Given the description of an element on the screen output the (x, y) to click on. 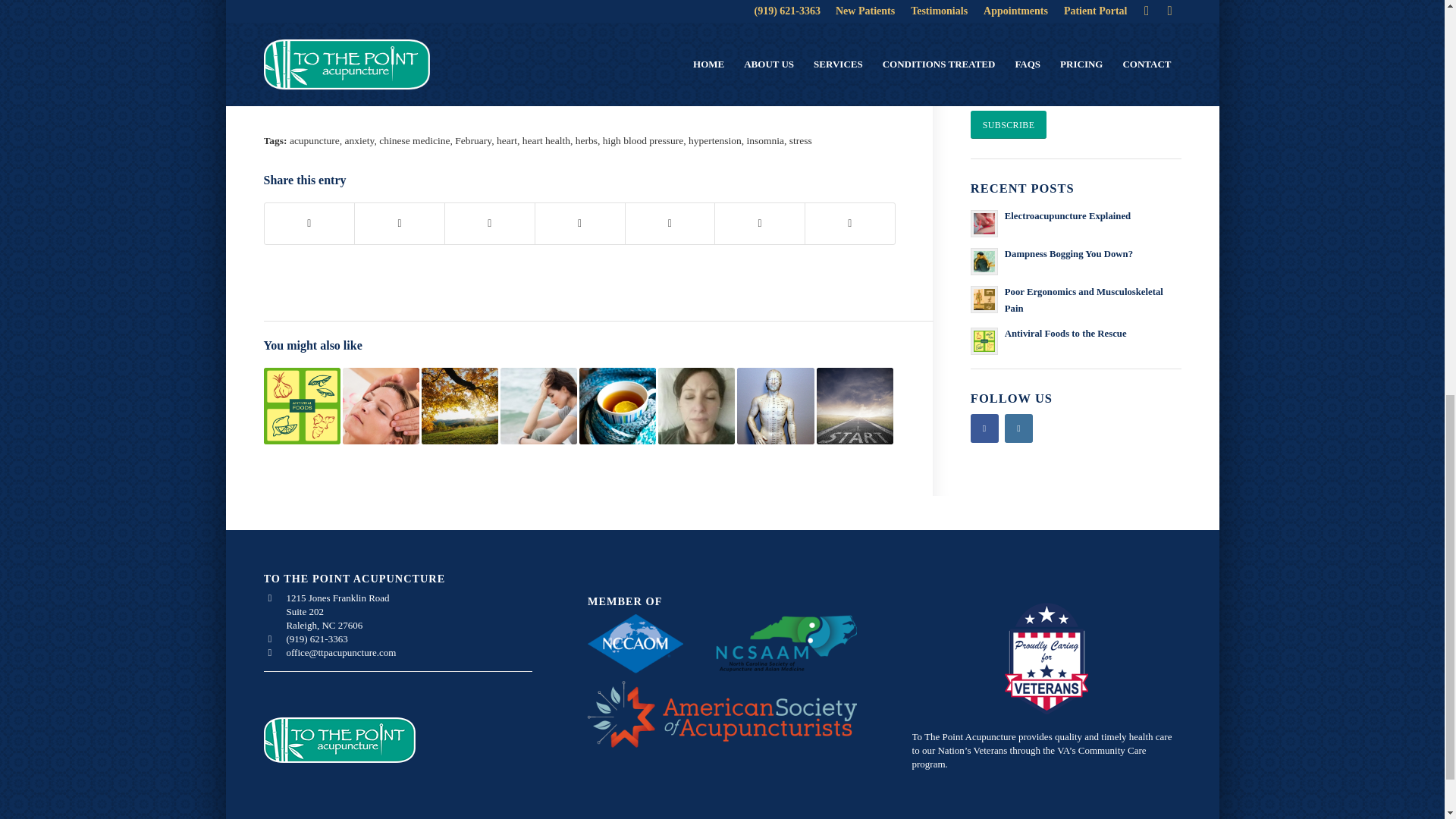
hypertension (714, 140)
heart health (546, 140)
chinese medicine (413, 140)
February (473, 140)
high blood pressure (642, 140)
To The Point Acupuncture, LLC. (498, 55)
heart (506, 140)
insomnia (764, 140)
acupuncture (314, 140)
The Key to your Wei-Qi (459, 405)
Acupuncture for Depression (538, 405)
Antiviral Foods to the Rescue (301, 405)
stress (800, 140)
anxiety (359, 140)
